Given the description of an element on the screen output the (x, y) to click on. 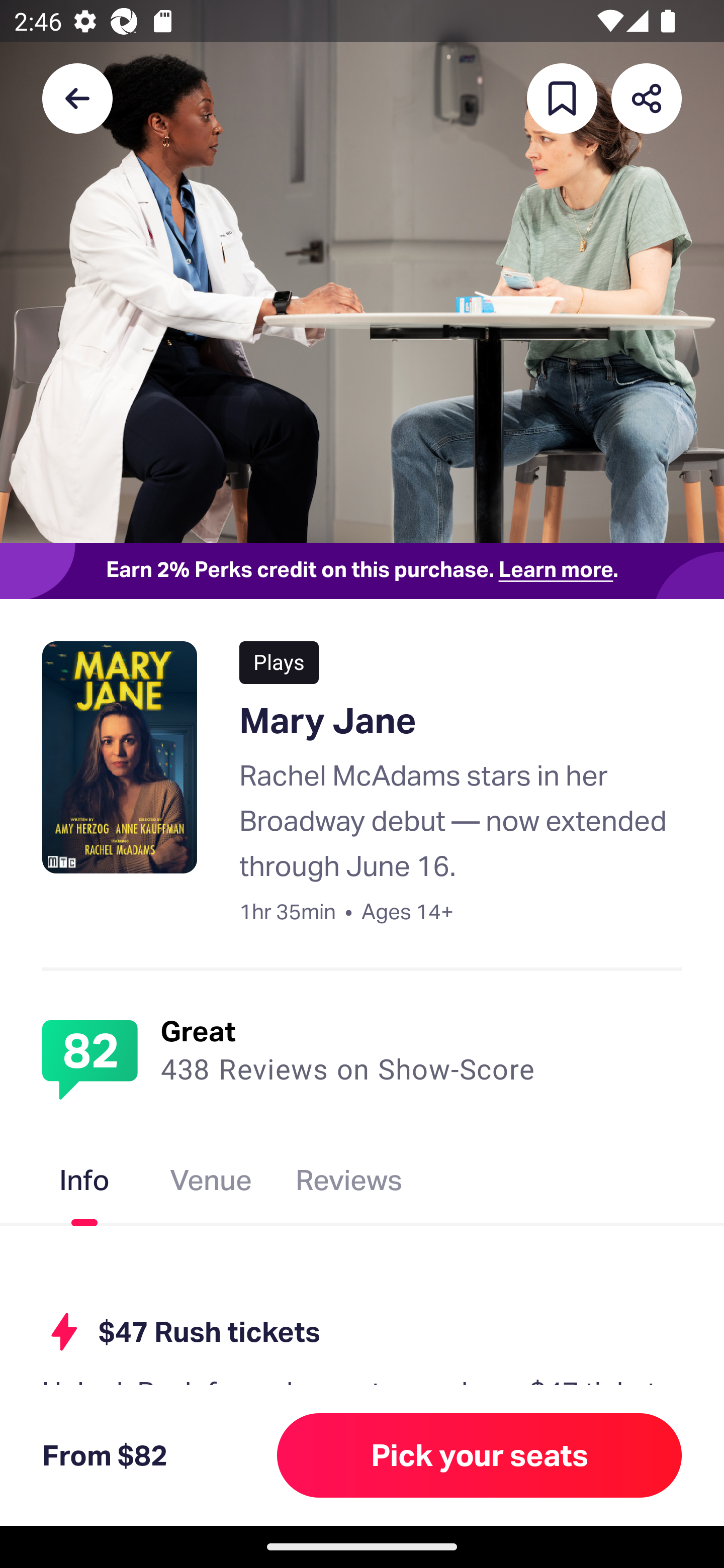
Earn 2% Perks credit on this purchase. Learn more. (362, 570)
Venue (210, 1183)
Reviews (348, 1183)
Pick your seats (479, 1454)
